Given the description of an element on the screen output the (x, y) to click on. 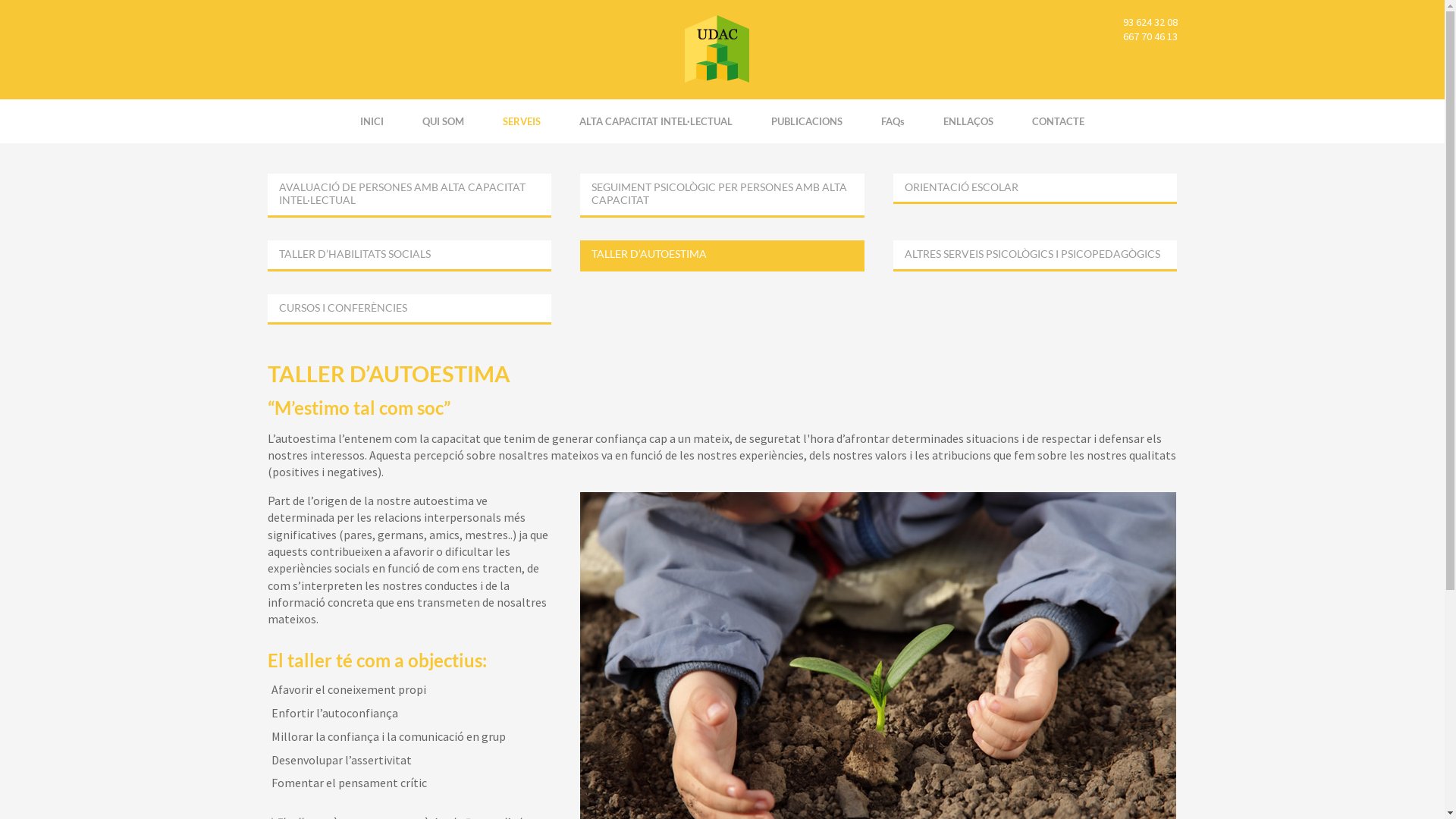
FAQs Element type: text (892, 121)
CONTACTE Element type: text (1058, 121)
QUI SOM Element type: text (443, 121)
INICI Element type: text (371, 121)
PUBLICACIONS Element type: text (806, 121)
SERVEIS Element type: text (521, 121)
